Given the description of an element on the screen output the (x, y) to click on. 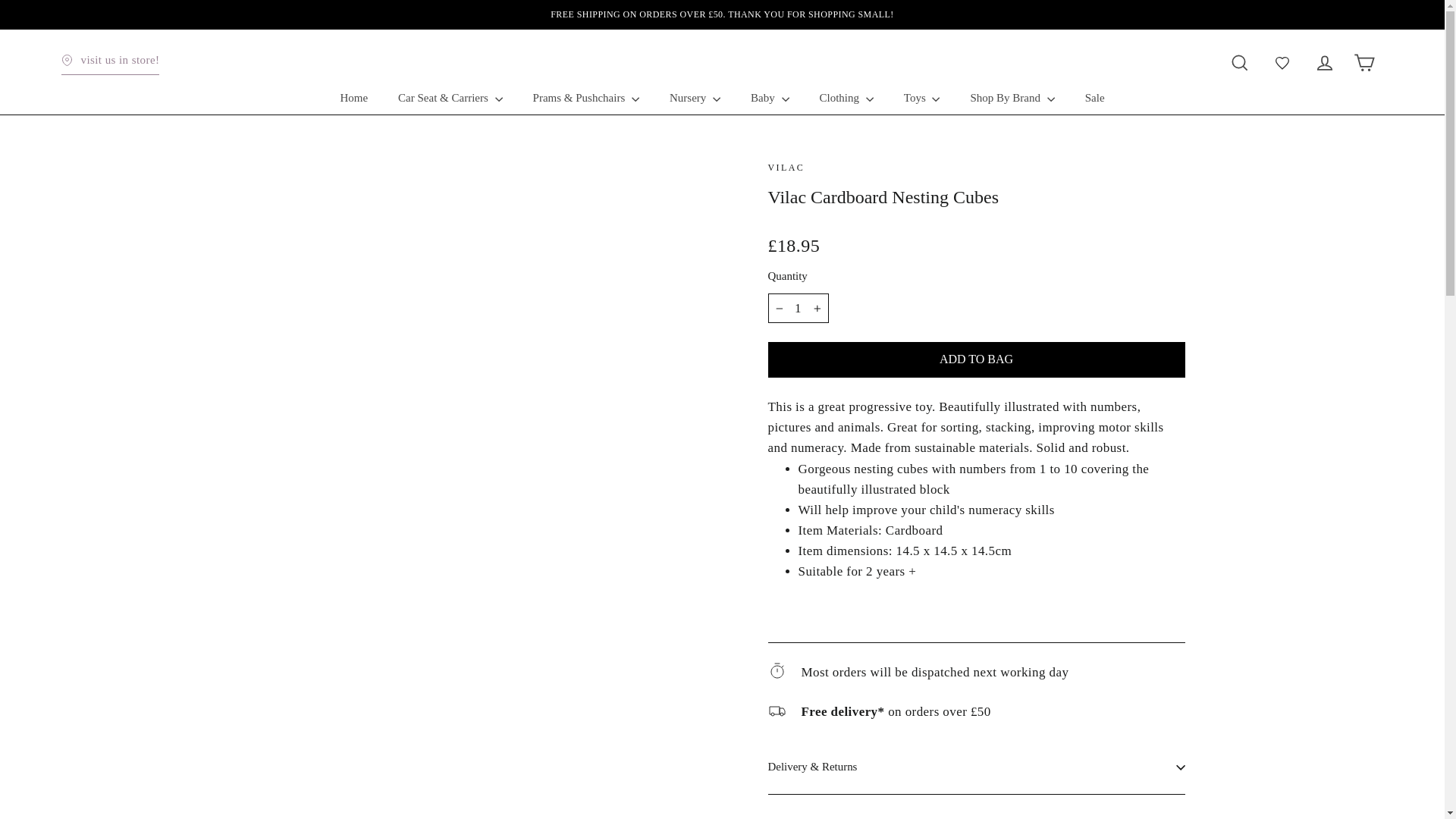
Vilac (786, 167)
1 (797, 307)
